Given the description of an element on the screen output the (x, y) to click on. 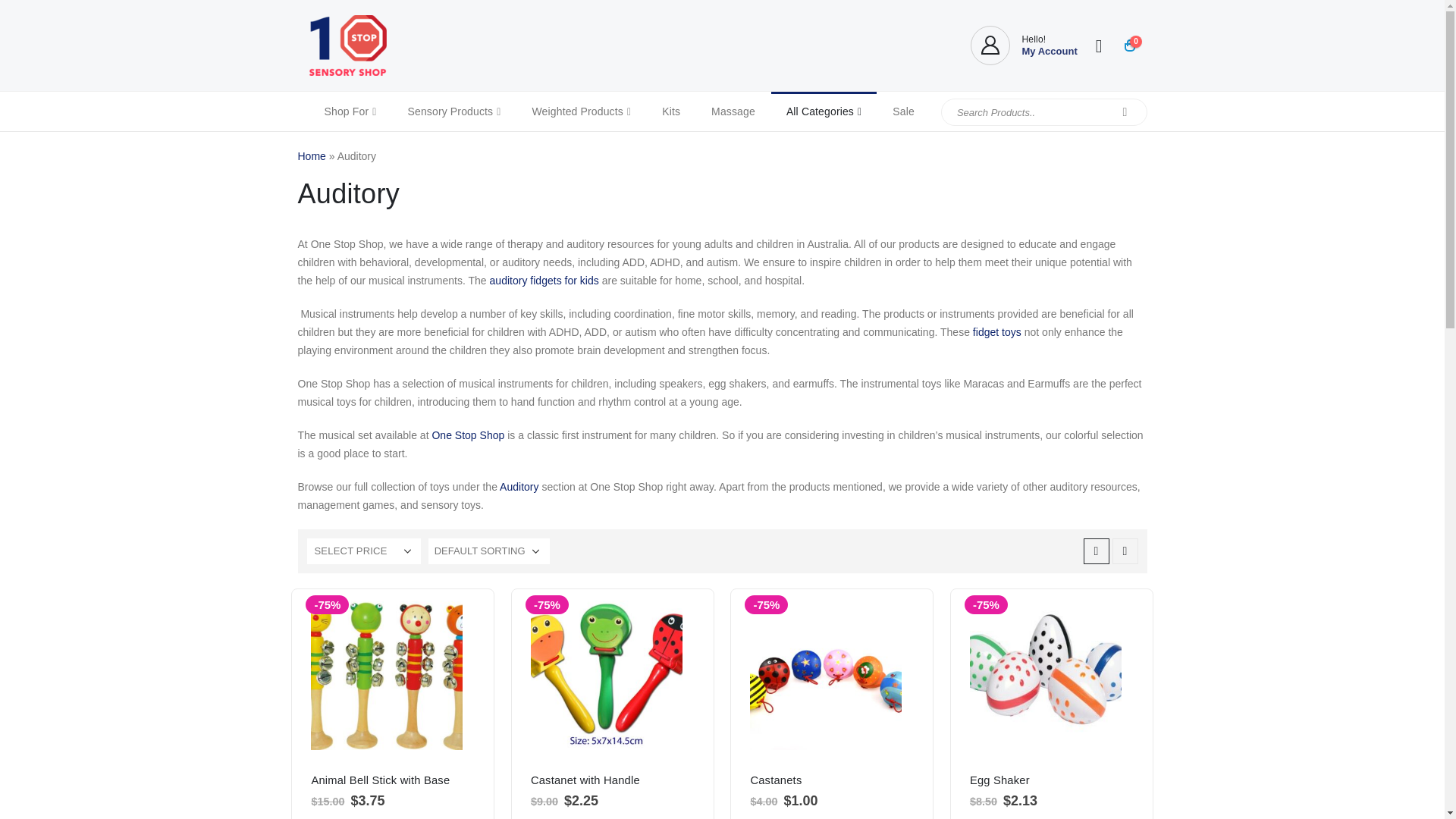
Sensory Products (453, 111)
auditory fidgets for kids (543, 280)
All Categories (823, 111)
List View (1124, 551)
One Stop Sensory Shop -  (347, 45)
Kits (670, 111)
One Stop Shop (466, 435)
Massage (732, 111)
Sale (903, 111)
